Given the description of an element on the screen output the (x, y) to click on. 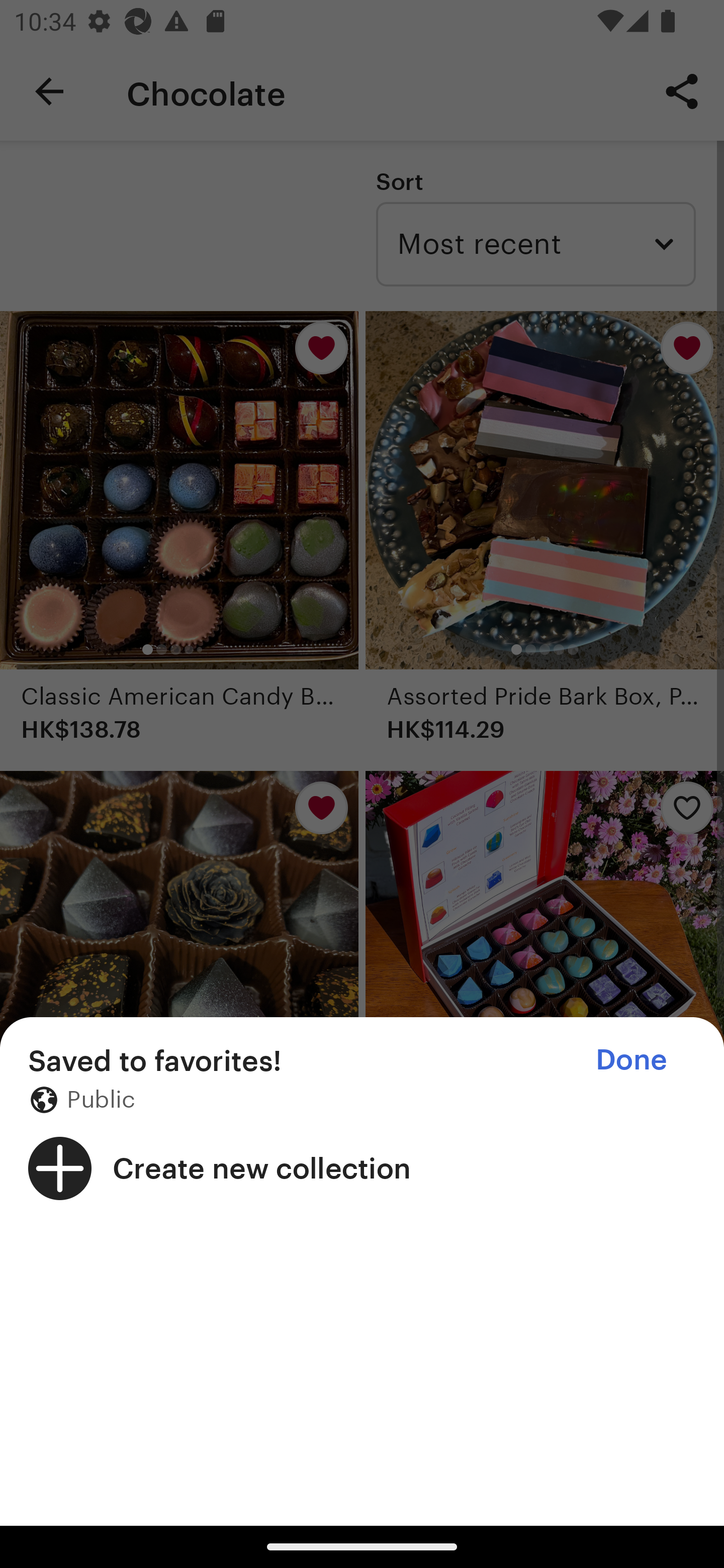
Done (630, 1059)
Create new collection (361, 1167)
